Given the description of an element on the screen output the (x, y) to click on. 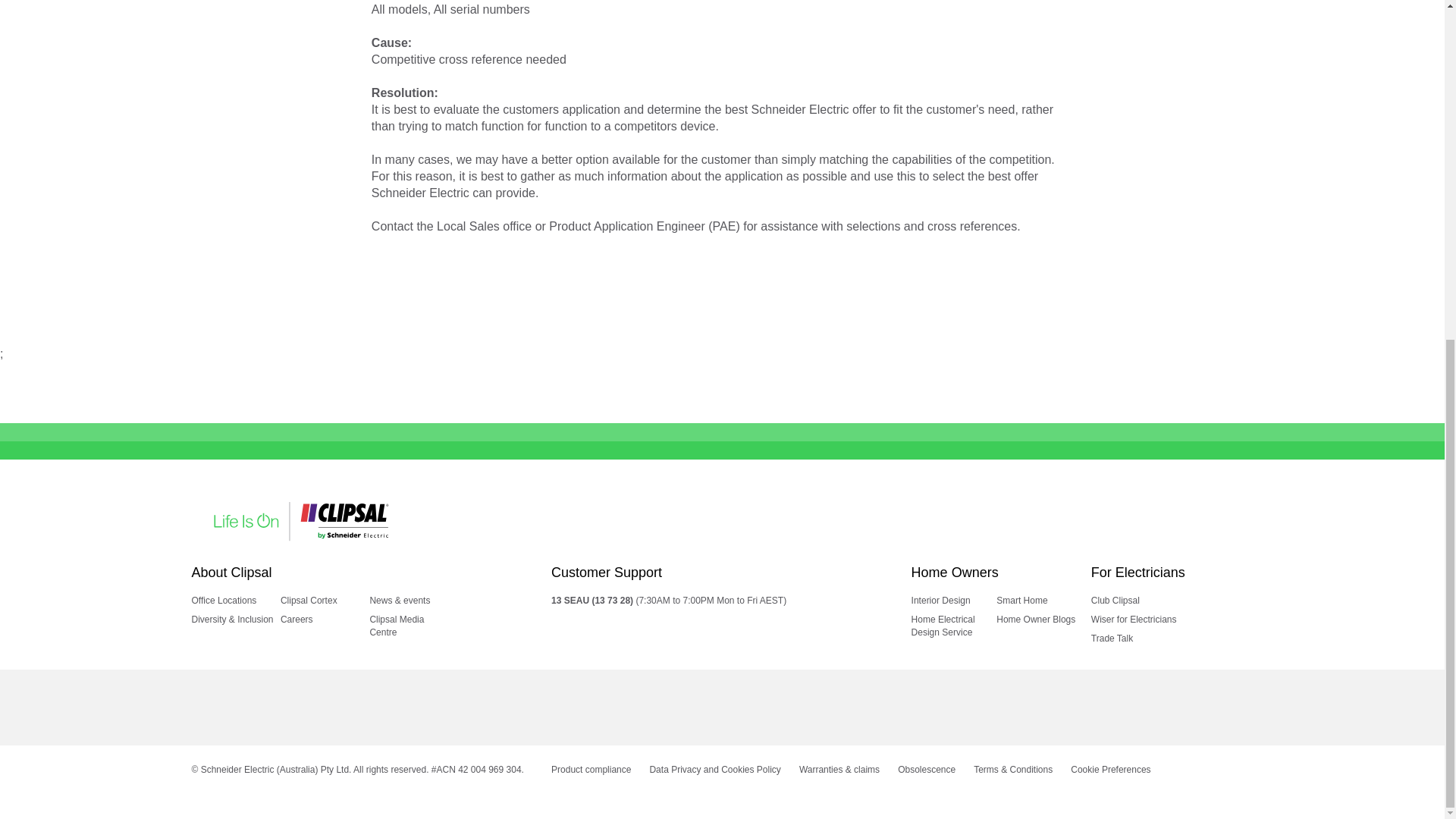
Cookies (1110, 769)
